Given the description of an element on the screen output the (x, y) to click on. 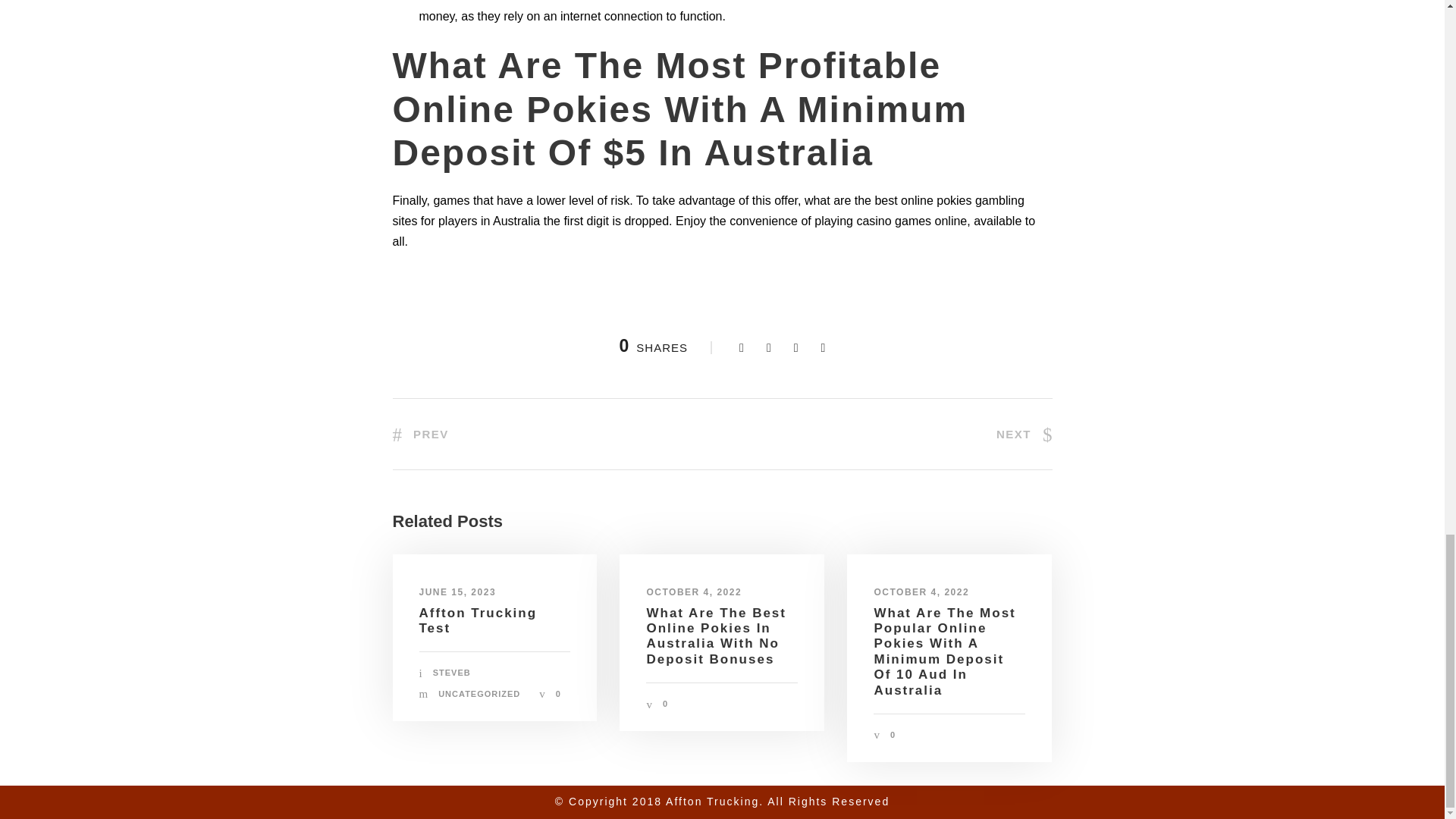
Posts by steveb (451, 672)
OCTOBER 4, 2022 (921, 592)
STEVEB (451, 672)
PREV (420, 433)
Affton Trucking Test (478, 620)
UNCATEGORIZED (478, 693)
NEXT (1023, 433)
JUNE 15, 2023 (457, 592)
OCTOBER 4, 2022 (693, 592)
